Given the description of an element on the screen output the (x, y) to click on. 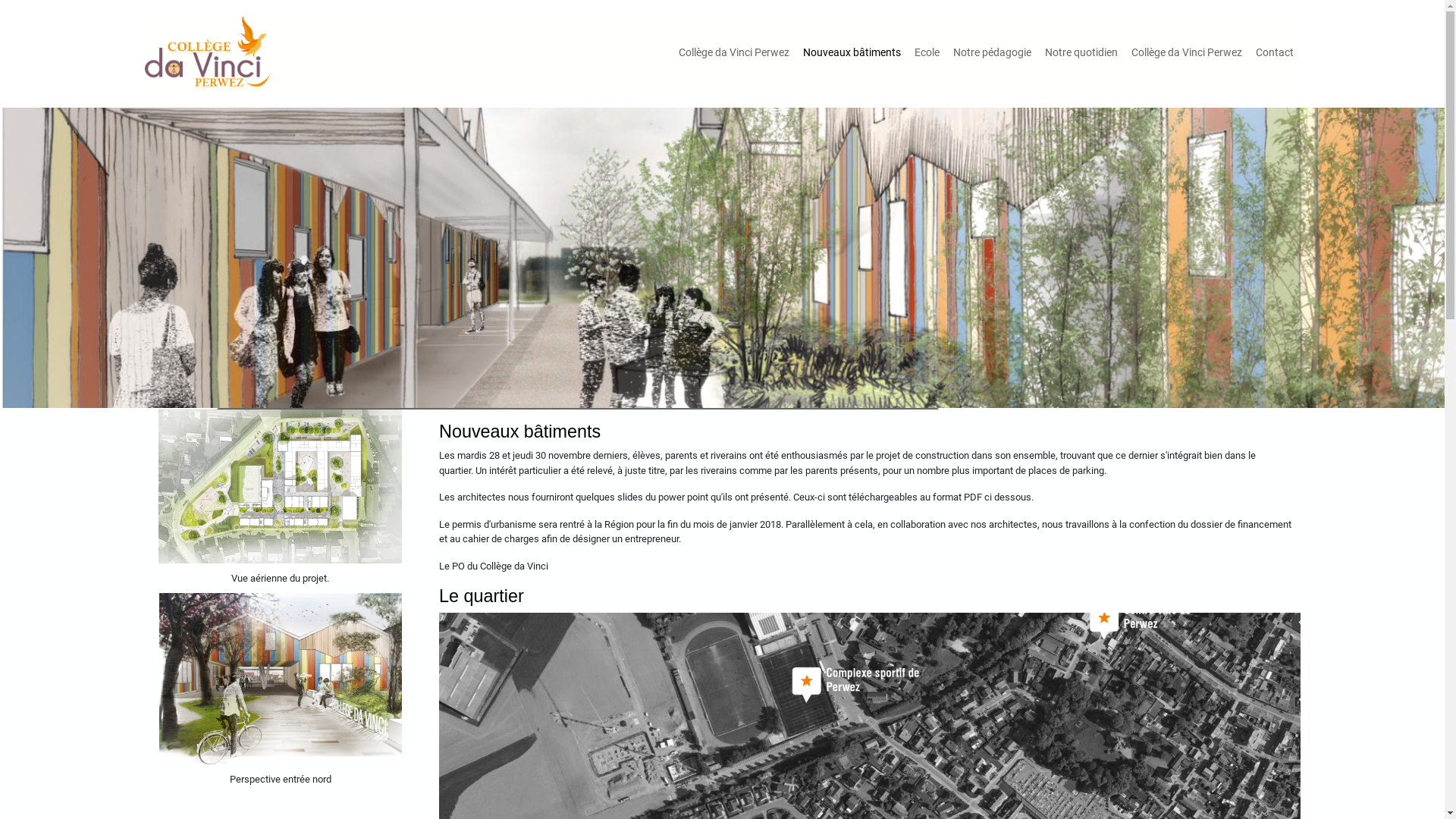
Notre quotidien Element type: text (1080, 52)
Ecole Element type: text (926, 52)
Contact Element type: text (1274, 52)
